Given the description of an element on the screen output the (x, y) to click on. 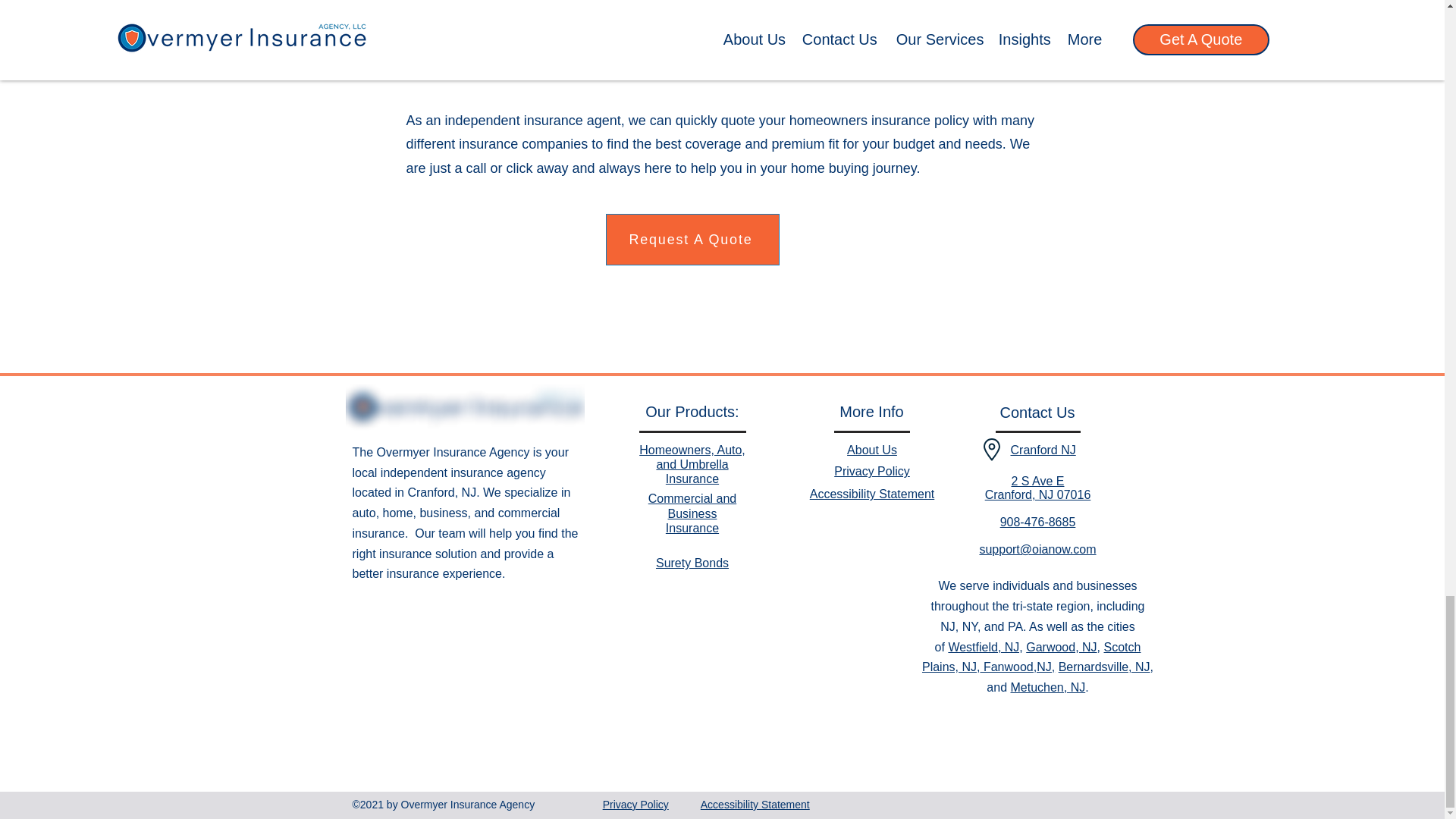
Metuchen, NJ (691, 512)
Scotch Plains, NJ (1047, 686)
Request A Quote (692, 464)
Garwood, NJ (1030, 657)
 Fanwood,NJ, (691, 239)
Bernardsville, NJ (1037, 488)
